Given the description of an element on the screen output the (x, y) to click on. 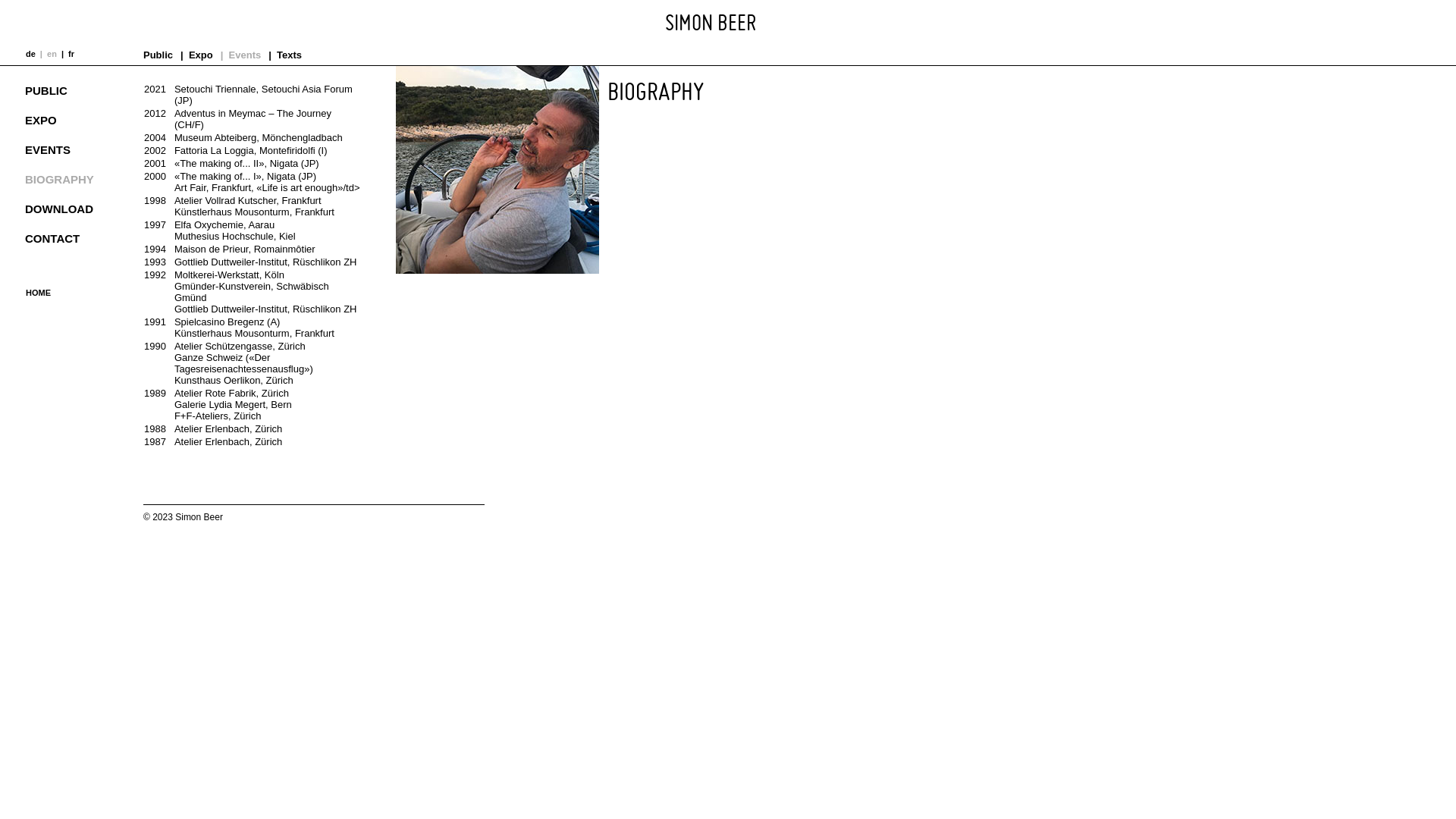
fr Element type: text (69, 53)
en Element type: text (50, 53)
Events Element type: text (244, 54)
Public Element type: text (161, 54)
HOME Element type: text (40, 292)
Expo Element type: text (200, 54)
CONTACT Element type: text (76, 234)
DOWNLOAD Element type: text (76, 204)
EVENTS Element type: text (76, 145)
de Element type: text (32, 53)
BIOGRAPHY Element type: text (76, 175)
EXPO Element type: text (76, 116)
Texts Element type: text (288, 54)
PUBLIC Element type: text (76, 86)
